Given the description of an element on the screen output the (x, y) to click on. 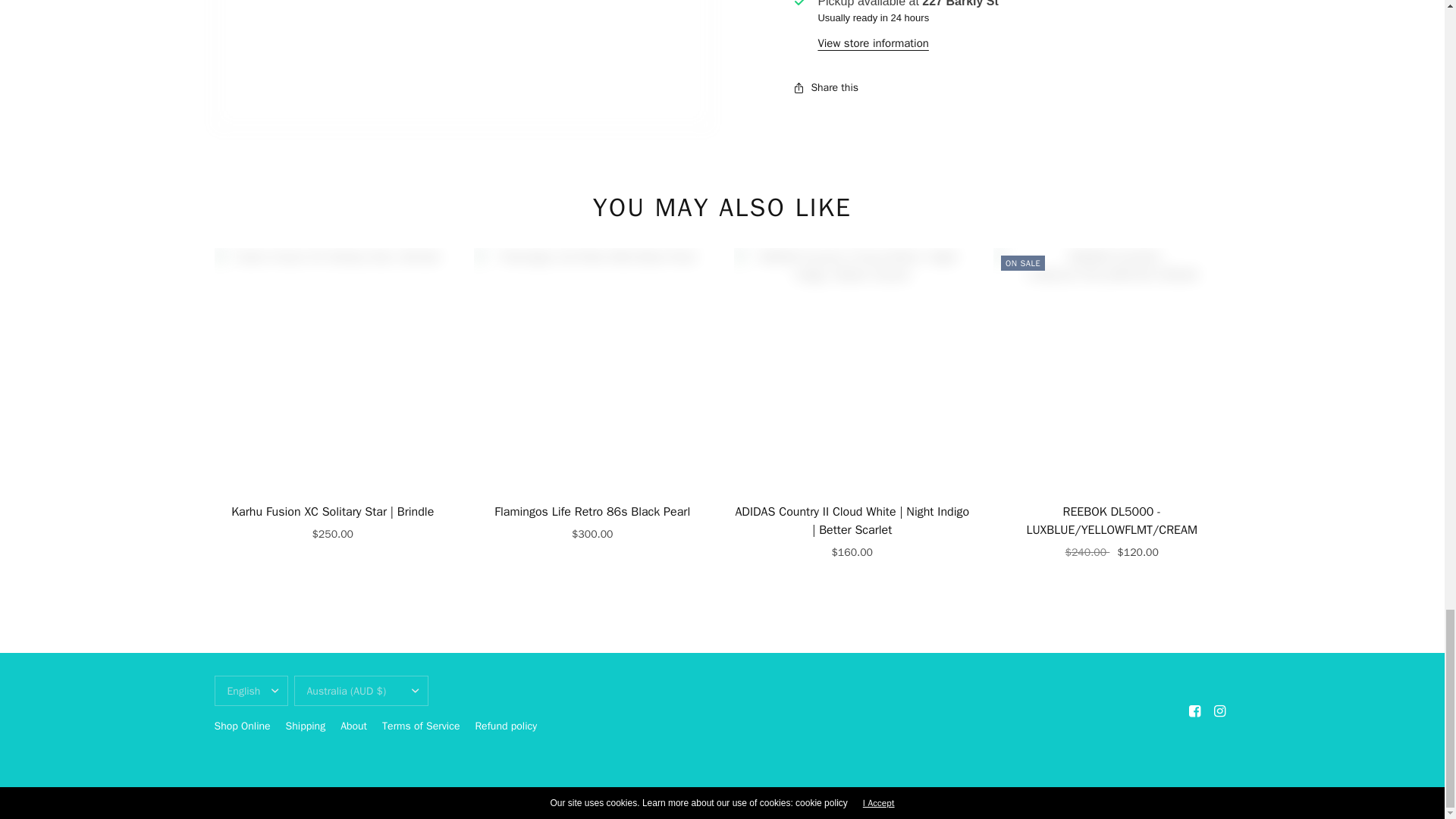
American Express (1028, 795)
Shop Pay (1154, 795)
Mastercard (1091, 795)
PayPal (1123, 795)
Visa (1218, 795)
Union Pay (1186, 795)
Google Pay (1060, 795)
